Given the description of an element on the screen output the (x, y) to click on. 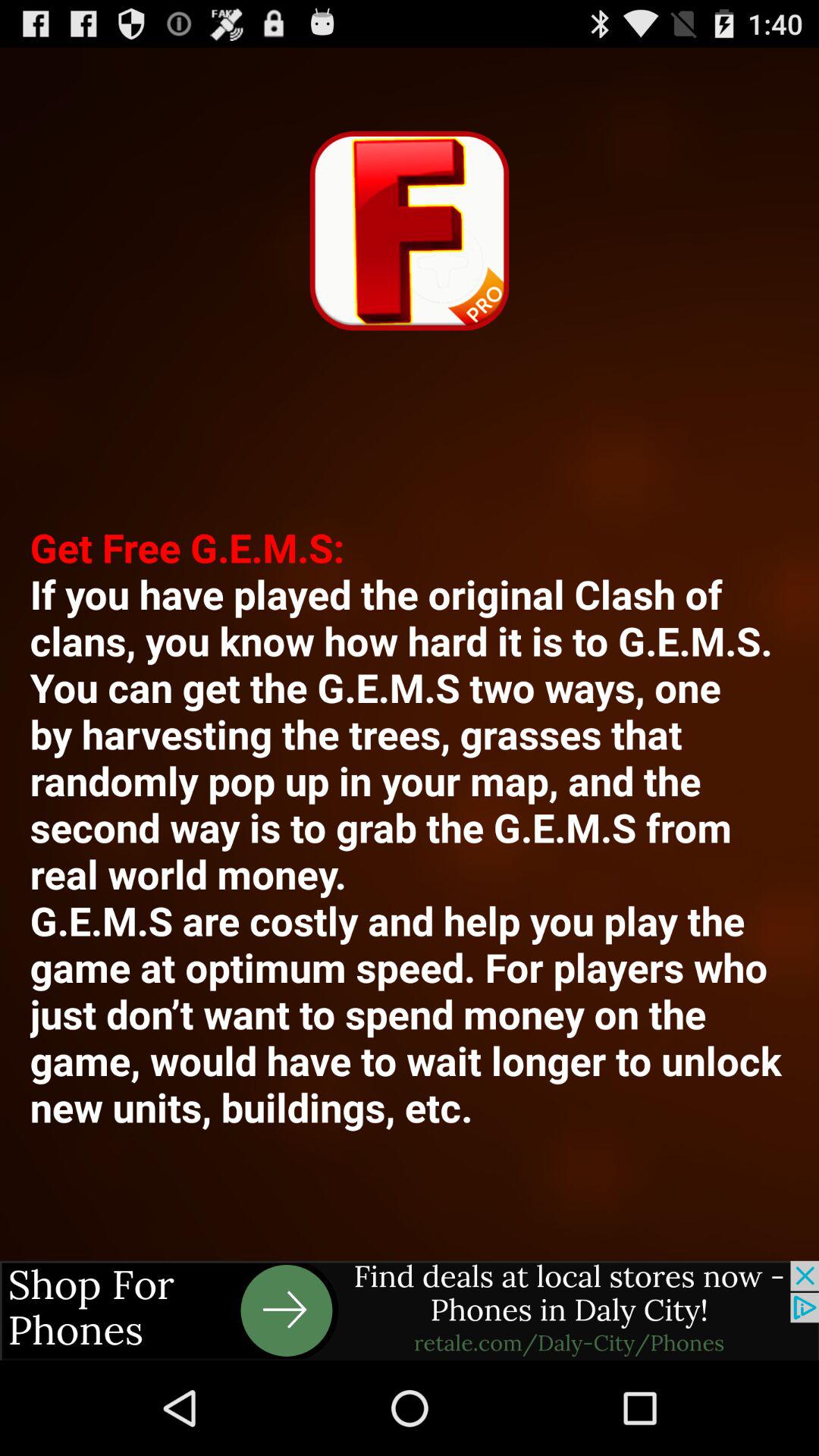
link to advertisement (409, 1310)
